Given the description of an element on the screen output the (x, y) to click on. 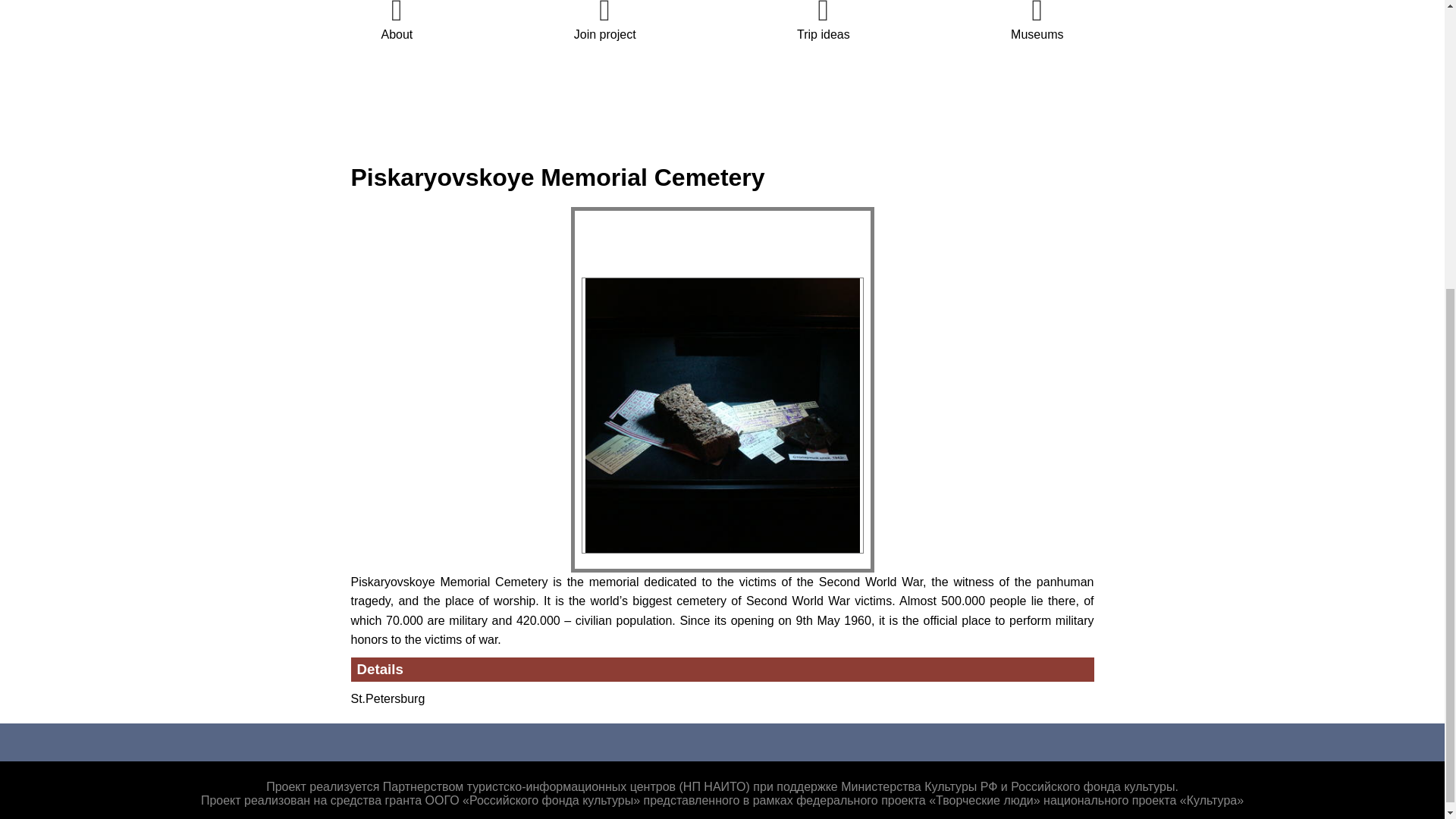
Trip ideas (823, 20)
Museums (1036, 20)
Join project (604, 20)
